Given the description of an element on the screen output the (x, y) to click on. 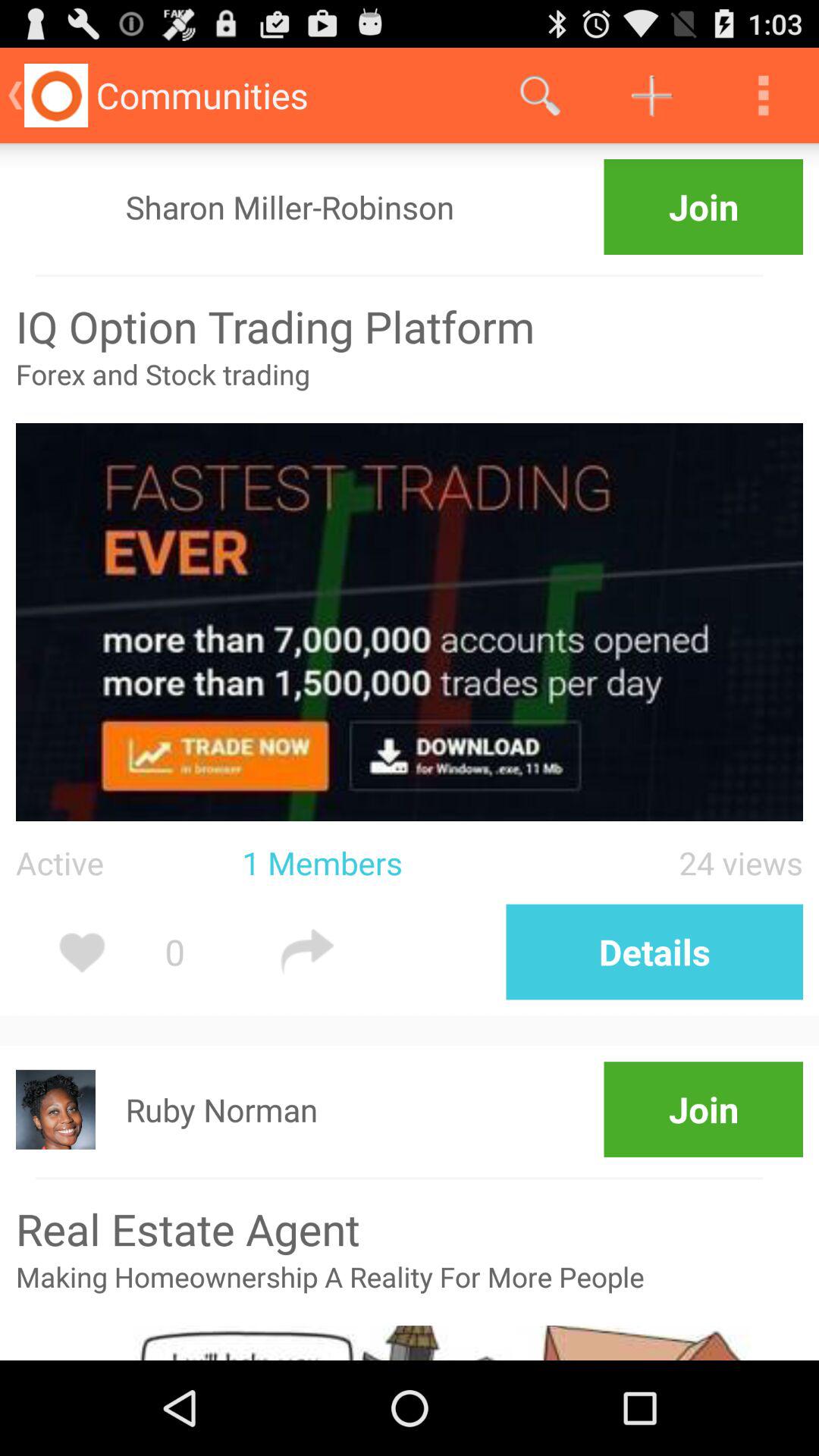
jump until iq option trading icon (409, 325)
